Given the description of an element on the screen output the (x, y) to click on. 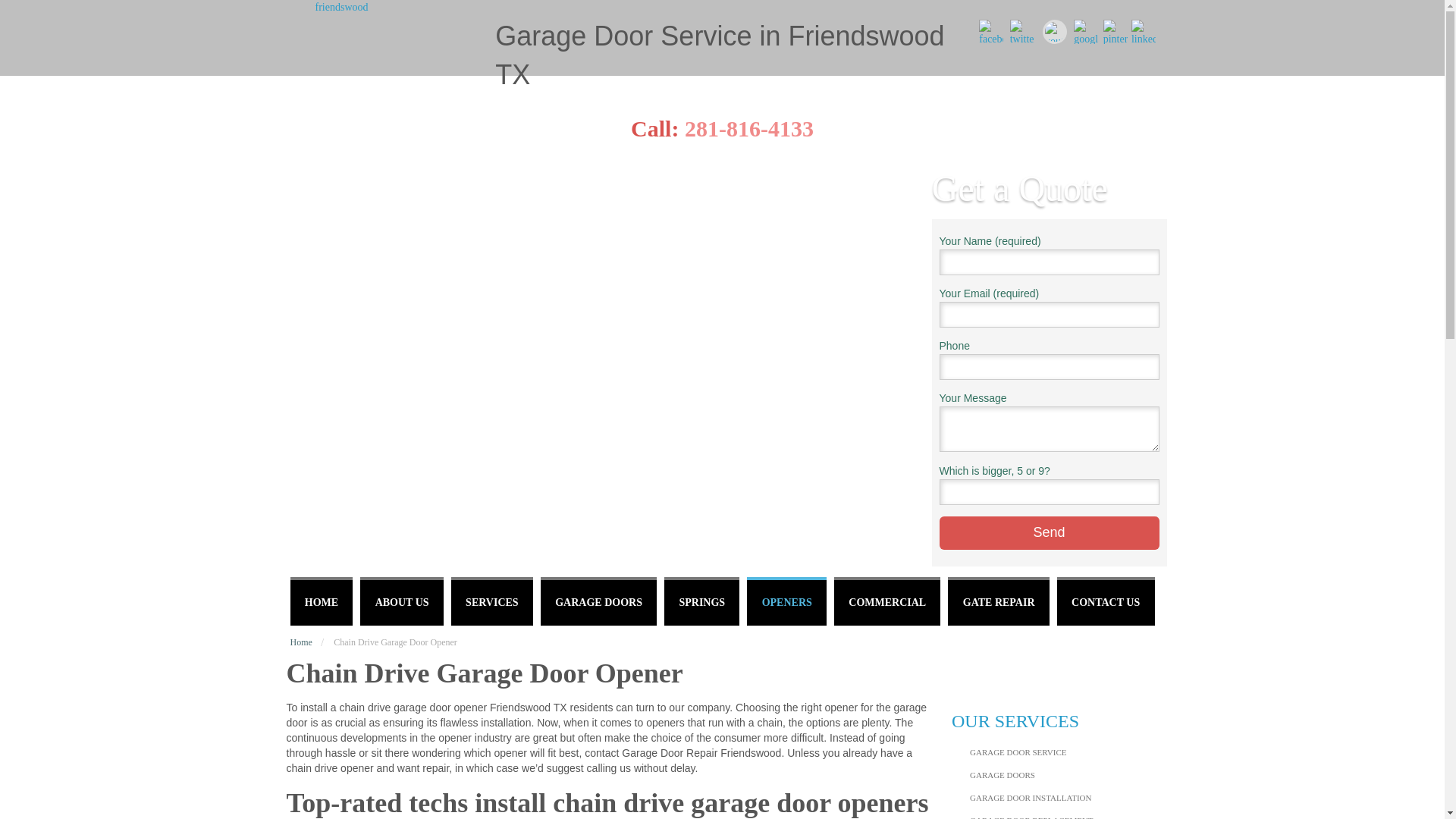
twitter (1021, 31)
Send (1048, 532)
facebook (990, 31)
youtube (1054, 31)
linkedin (1143, 31)
pinterest (1114, 31)
